Given the description of an element on the screen output the (x, y) to click on. 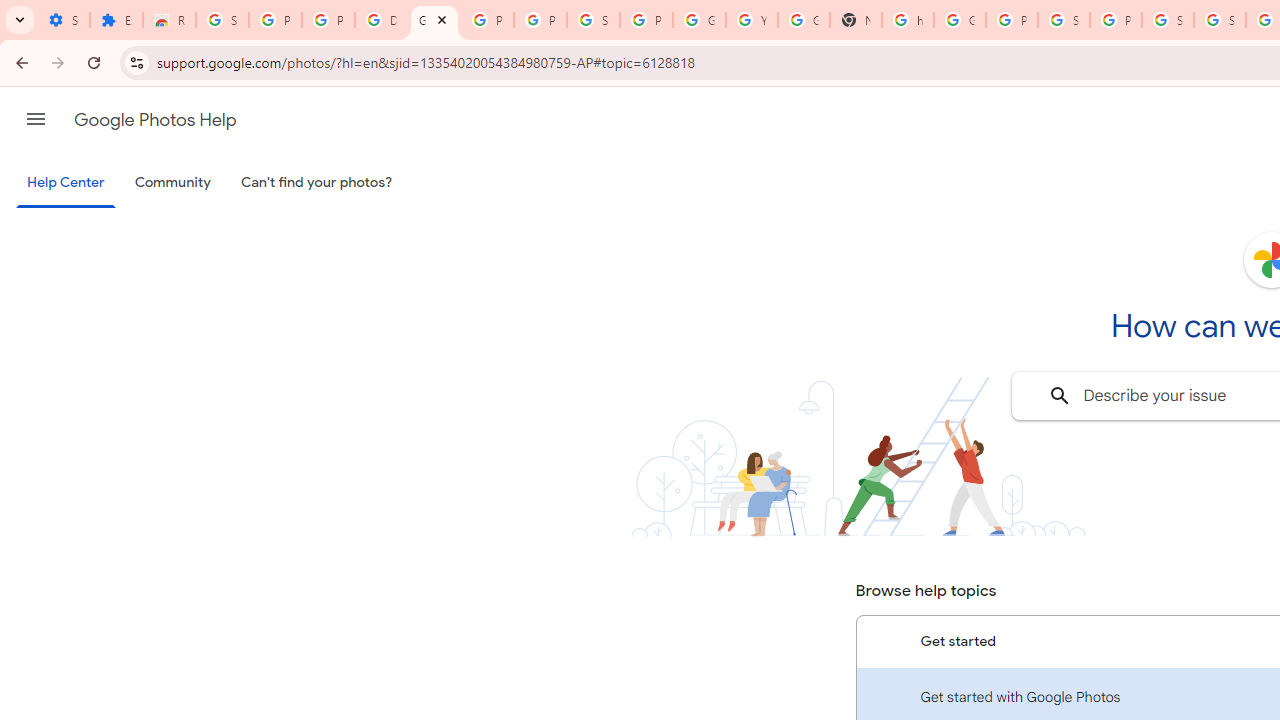
Sign in - Google Accounts (1167, 20)
Help Center (65, 183)
Community (171, 183)
Google Account (699, 20)
Delete photos & videos - Computer - Google Photos Help (381, 20)
https://scholar.google.com/ (907, 20)
Settings - On startup (63, 20)
